Given the description of an element on the screen output the (x, y) to click on. 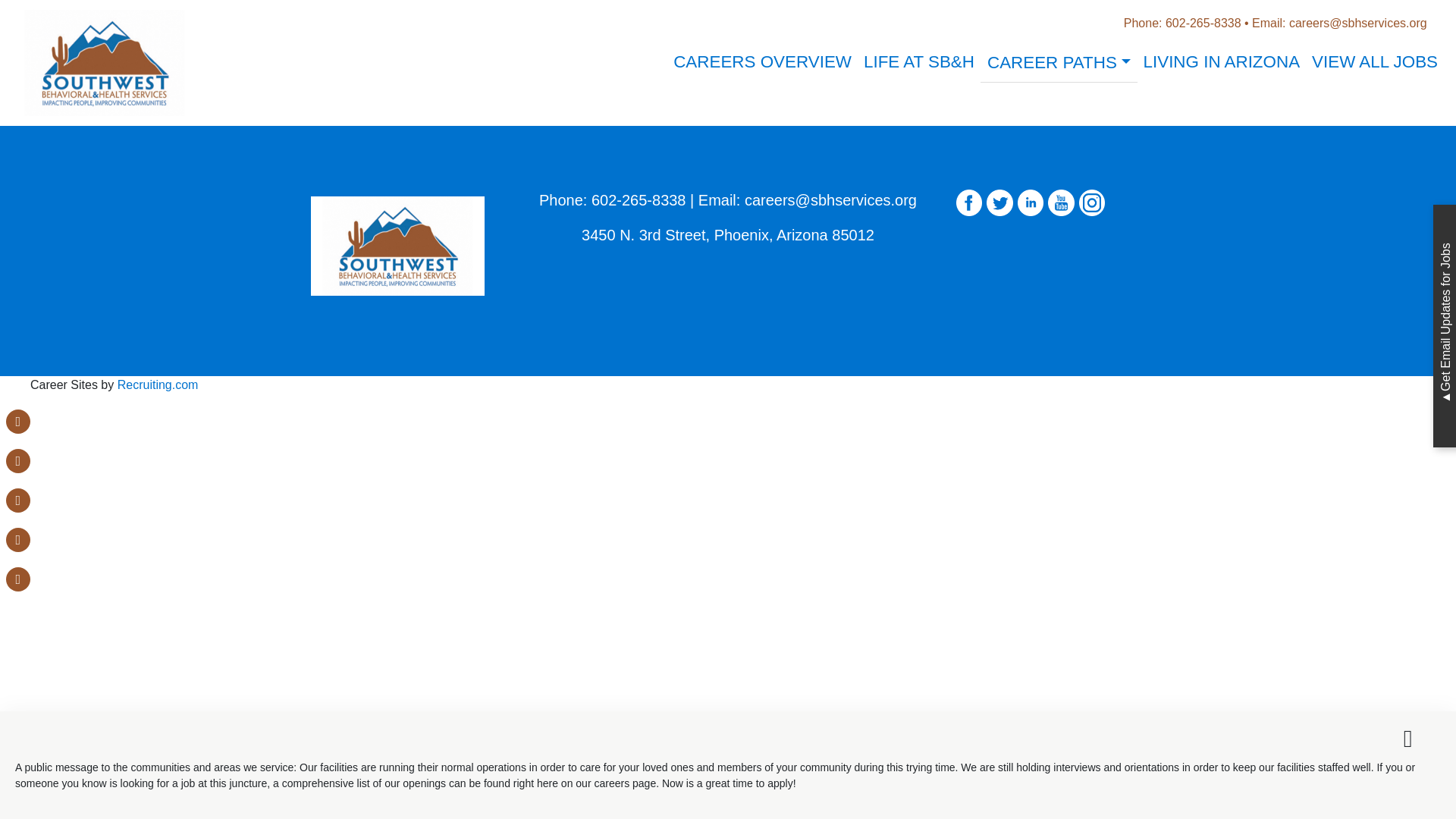
Return to Job Search (726, 63)
CAREER PATHS (1058, 62)
LIVING IN ARIZONA (1221, 62)
VIEW ALL JOBS (1375, 62)
Recruiting.com (157, 384)
CAREERS OVERVIEW (761, 62)
